Given the description of an element on the screen output the (x, y) to click on. 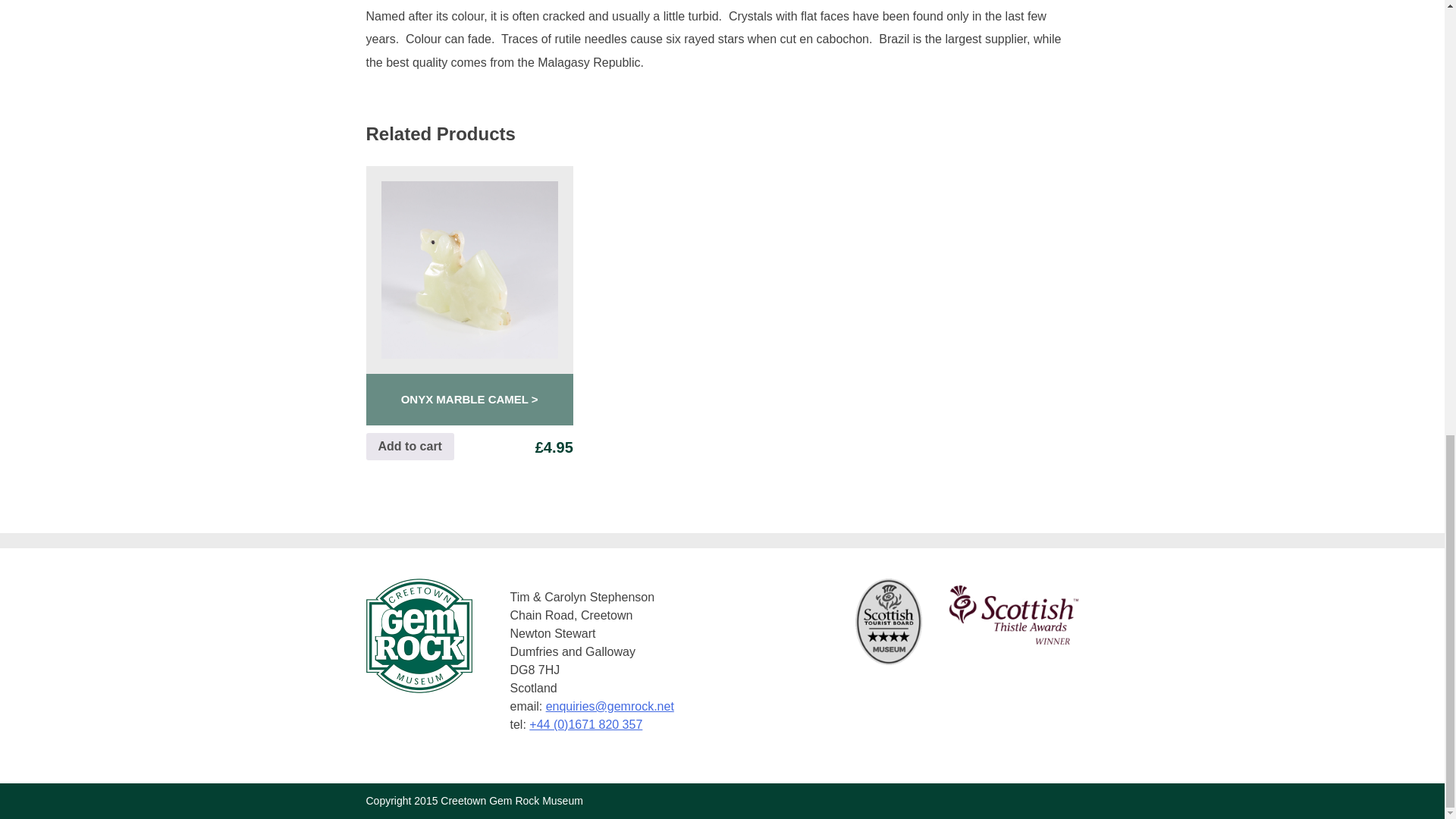
Onyx Marble Camel (468, 399)
Add to cart (408, 446)
ONYX MARBLE CAMEL (468, 399)
